Given the description of an element on the screen output the (x, y) to click on. 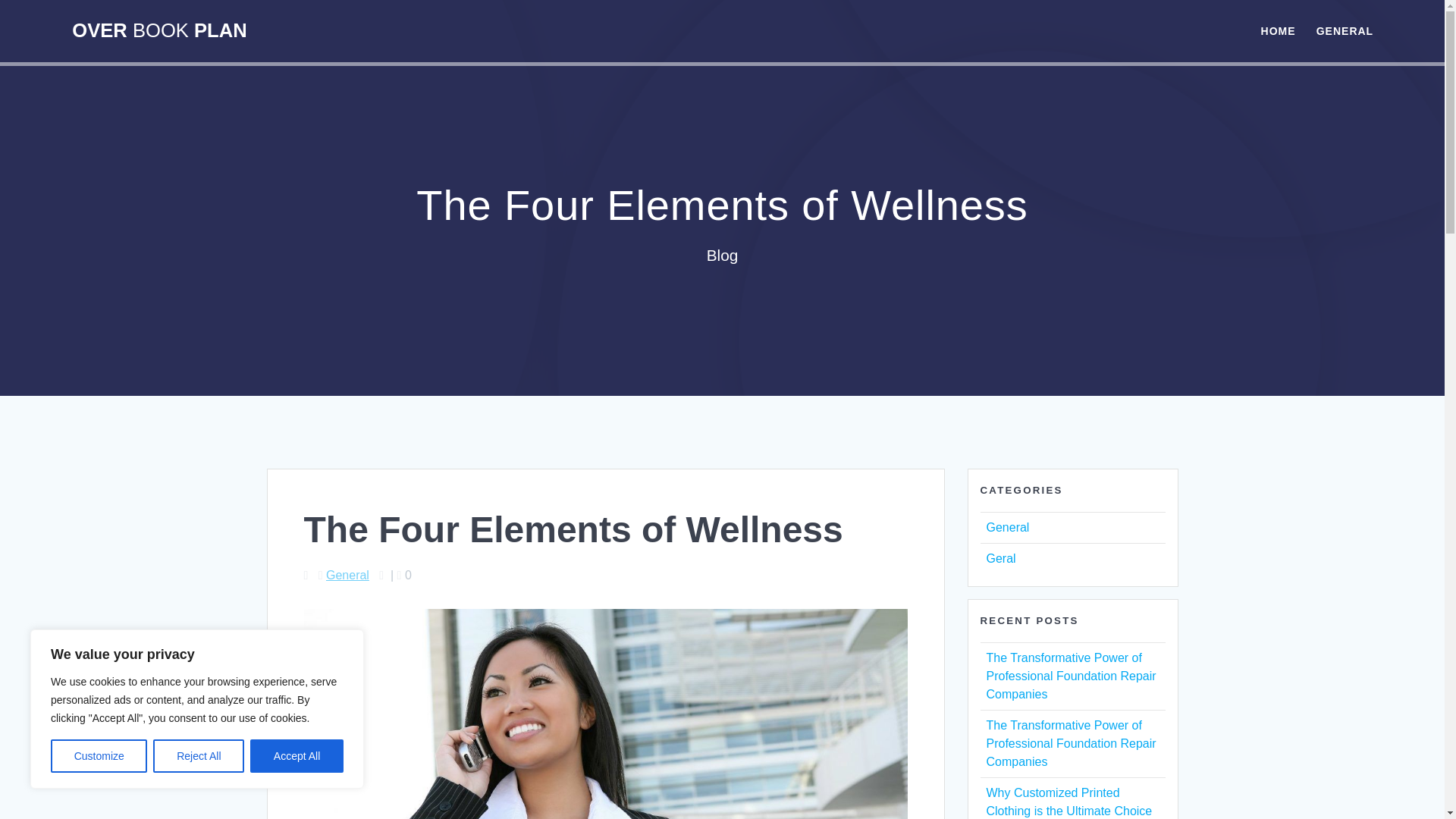
Reject All (198, 756)
Geral (999, 558)
OVER BOOK PLAN (158, 30)
General (1007, 526)
GENERAL (1344, 30)
Customize (98, 756)
HOME (1277, 30)
General (347, 574)
